Given the description of an element on the screen output the (x, y) to click on. 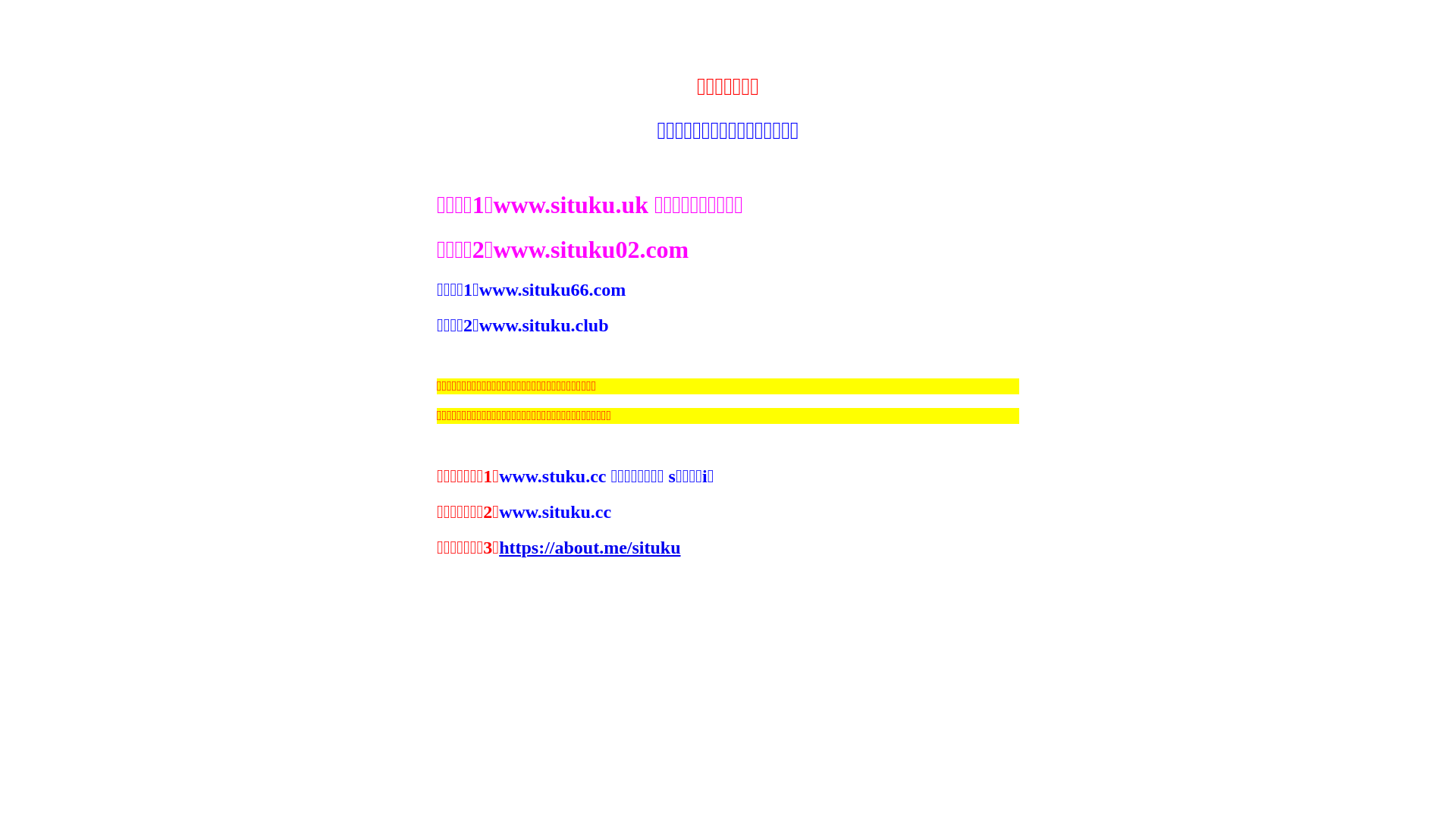
https://about.me/situku Element type: text (589, 547)
